Given the description of an element on the screen output the (x, y) to click on. 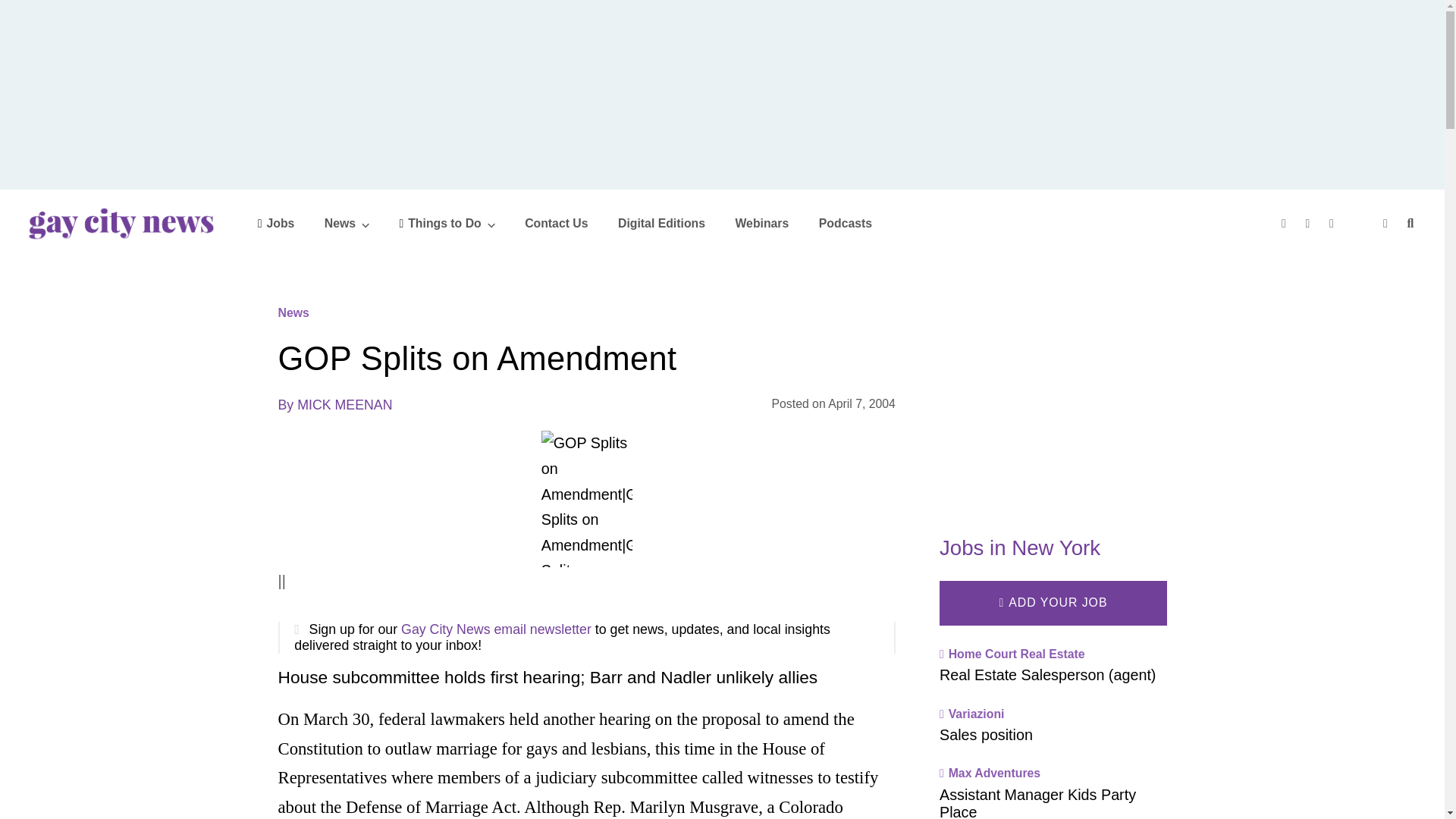
News (346, 223)
Jobs (276, 223)
Contact Us (556, 223)
Things to Do (446, 223)
Digital Editions (660, 223)
Podcasts (845, 223)
Webinars (762, 223)
